Given the description of an element on the screen output the (x, y) to click on. 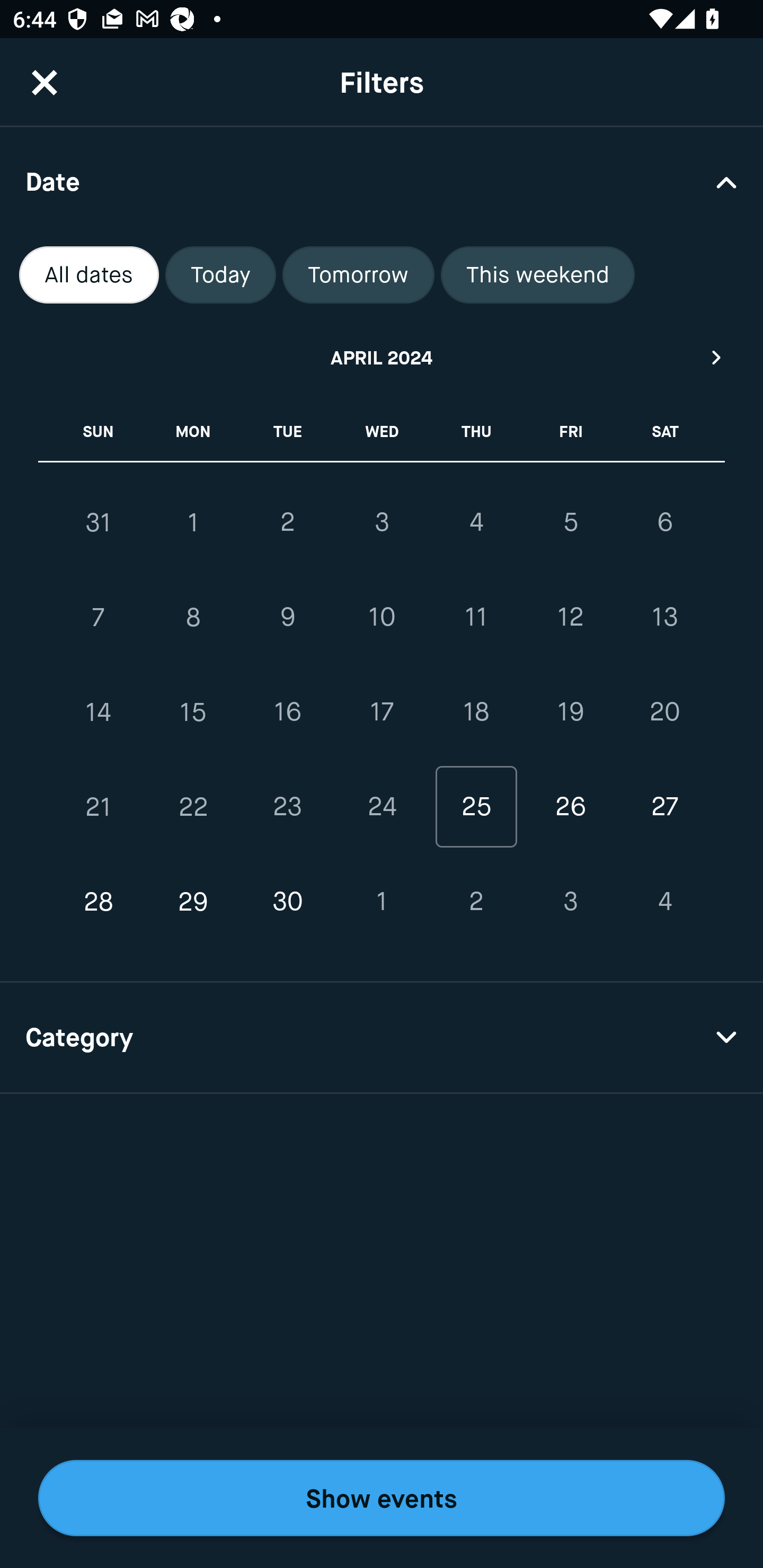
CloseButton (44, 82)
Date Drop Down Arrow (381, 181)
All dates (88, 274)
Today (220, 274)
Tomorrow (358, 274)
This weekend (537, 274)
Next (717, 357)
31 (98, 522)
1 (192, 522)
2 (287, 522)
3 (381, 522)
4 (475, 522)
5 (570, 522)
6 (664, 522)
7 (98, 617)
8 (192, 617)
9 (287, 617)
10 (381, 617)
11 (475, 617)
12 (570, 617)
13 (664, 617)
14 (98, 711)
15 (192, 711)
16 (287, 711)
17 (381, 711)
18 (475, 711)
19 (570, 711)
20 (664, 711)
21 (98, 806)
22 (192, 806)
23 (287, 806)
24 (381, 806)
25 (475, 806)
26 (570, 806)
27 (664, 806)
28 (98, 901)
29 (192, 901)
30 (287, 901)
1 (381, 901)
2 (475, 901)
3 (570, 901)
4 (664, 901)
Category Drop Down Arrow (381, 1038)
Show events (381, 1497)
